Given the description of an element on the screen output the (x, y) to click on. 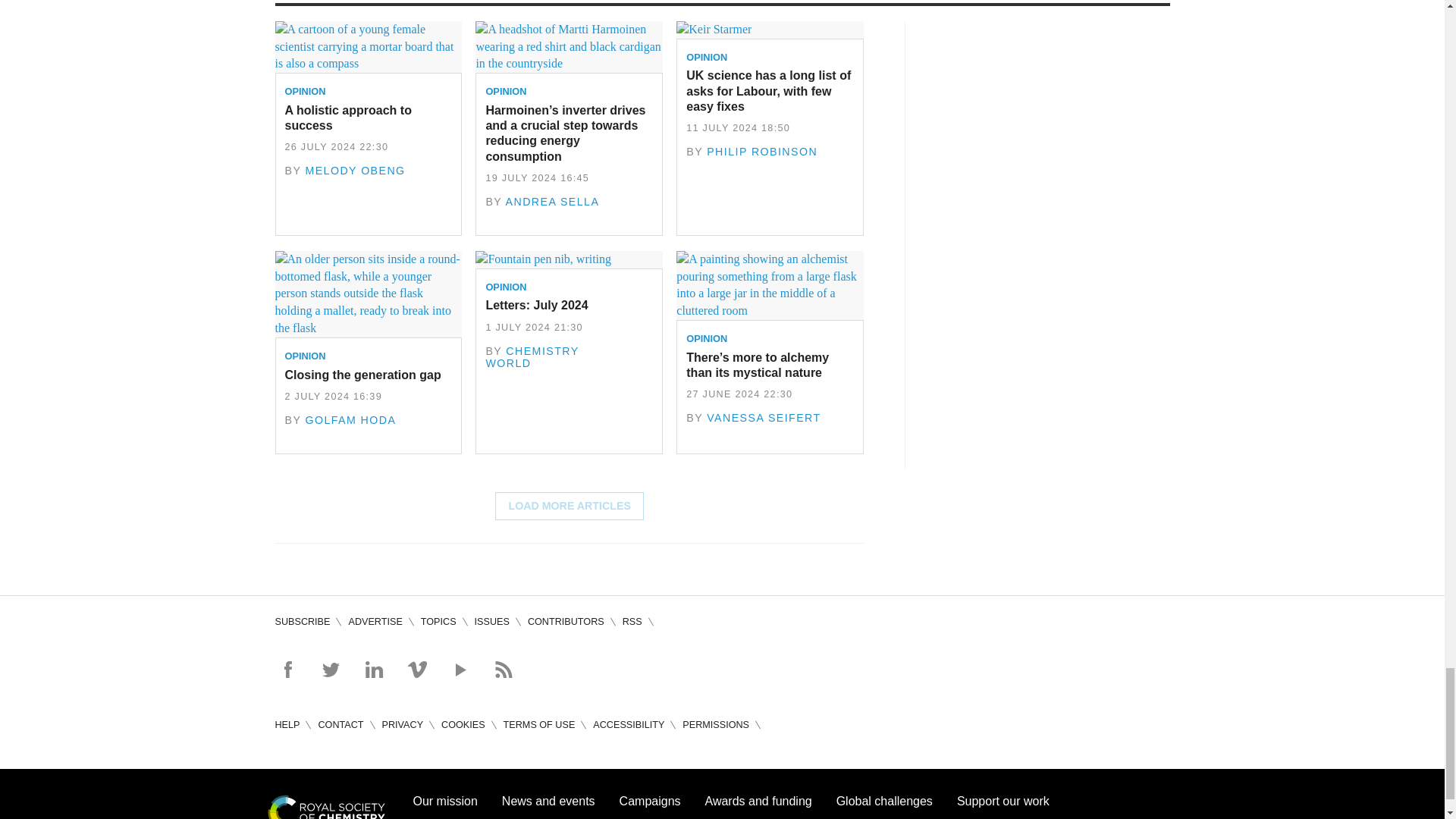
Follow on Facebook (287, 669)
Watch on Vimeo (416, 669)
Follow on Twitter (330, 669)
Connect on Linked in (373, 669)
